Given the description of an element on the screen output the (x, y) to click on. 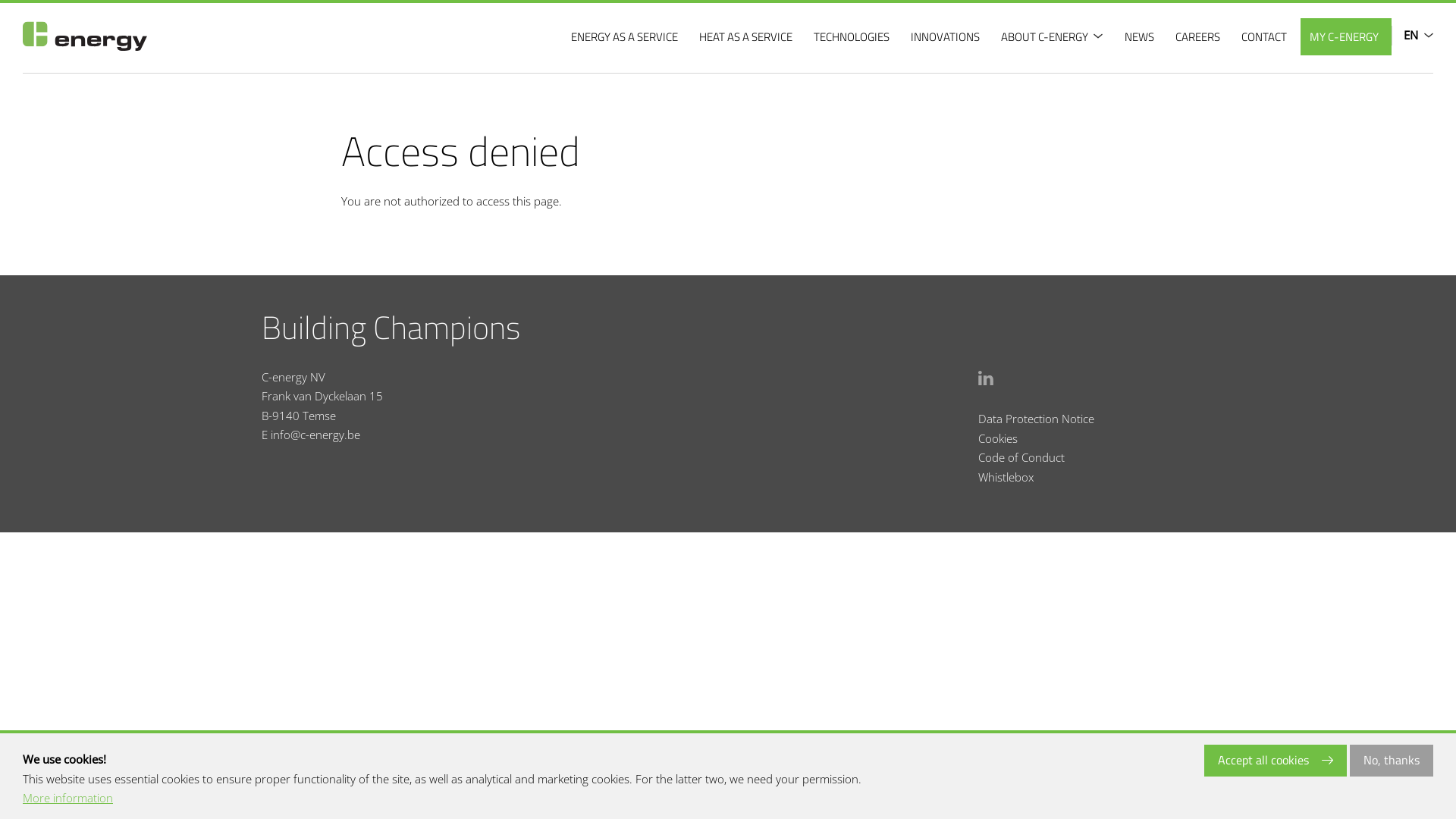
More information Element type: text (67, 798)
Skip to main content Element type: text (0, 0)
ENERGY AS A SERVICE Element type: text (626, 36)
TECHNOLOGIES Element type: text (853, 36)
NEWS Element type: text (1141, 36)
Cookies Element type: text (997, 437)
Whistlebox Element type: text (1005, 475)
ABOUT C-ENERGY Element type: text (1053, 36)
No, thanks Element type: text (1391, 760)
CONTACT Element type: text (1265, 36)
Accept all cookies Element type: text (1275, 760)
MY C-ENERGY Element type: text (1345, 36)
Data Protection Notice Element type: text (1036, 418)
info@c-energy.be Element type: text (315, 434)
EN Element type: text (1412, 35)
Code of Conduct Element type: text (1021, 456)
LinkedIn Element type: text (985, 375)
toggle Element type: text (1097, 35)
CAREERS Element type: text (1199, 36)
INNOVATIONS Element type: text (947, 36)
HEAT AS A SERVICE Element type: text (747, 36)
